Given the description of an element on the screen output the (x, y) to click on. 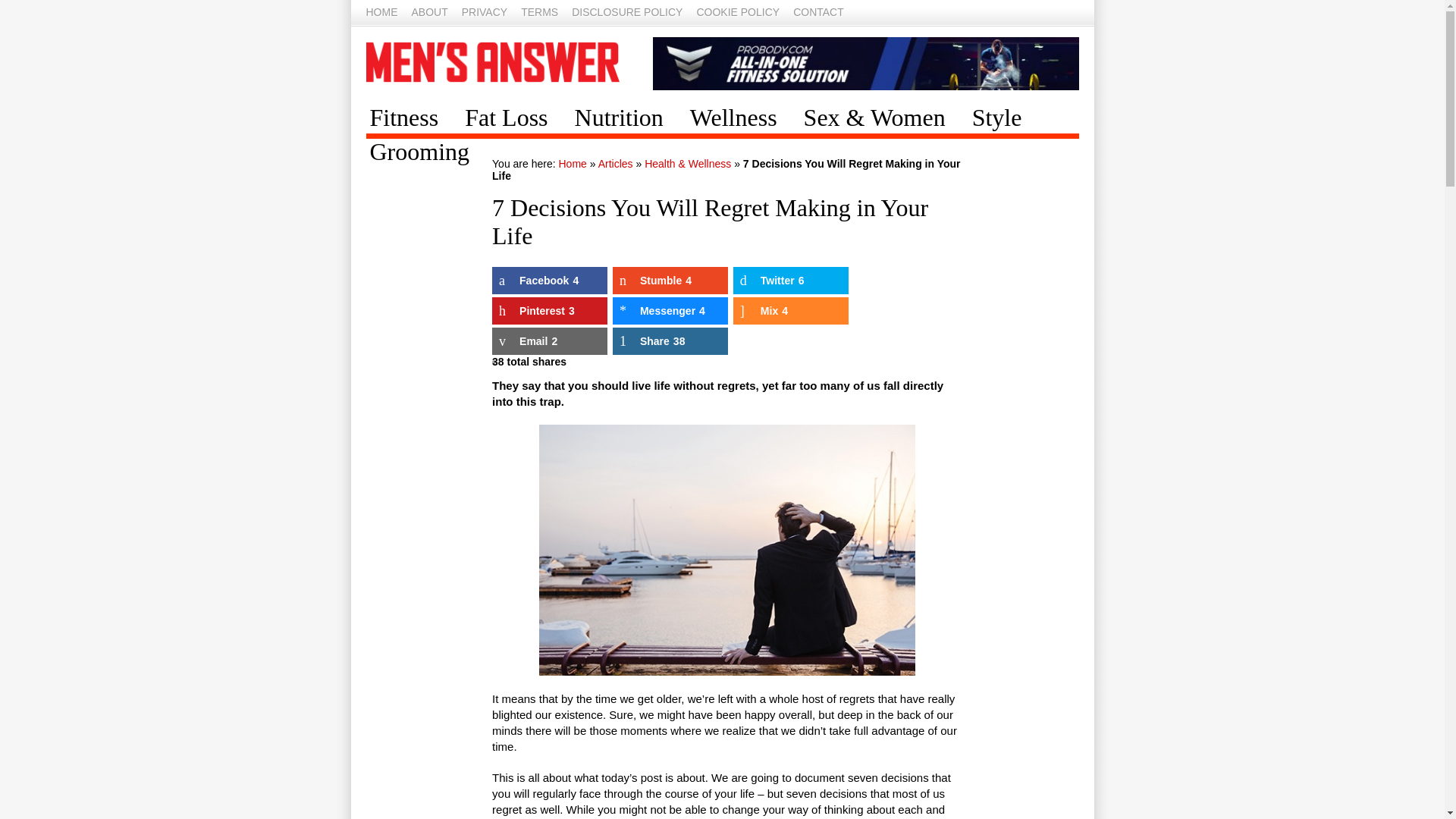
Fitness (412, 118)
Style (1005, 118)
DISCLOSURE POLICY (627, 13)
Articles (615, 163)
Grooming (427, 152)
Facebook4 (549, 280)
Twitter6 (790, 280)
HOME (381, 13)
ABOUT (428, 13)
TERMS (539, 13)
